Given the description of an element on the screen output the (x, y) to click on. 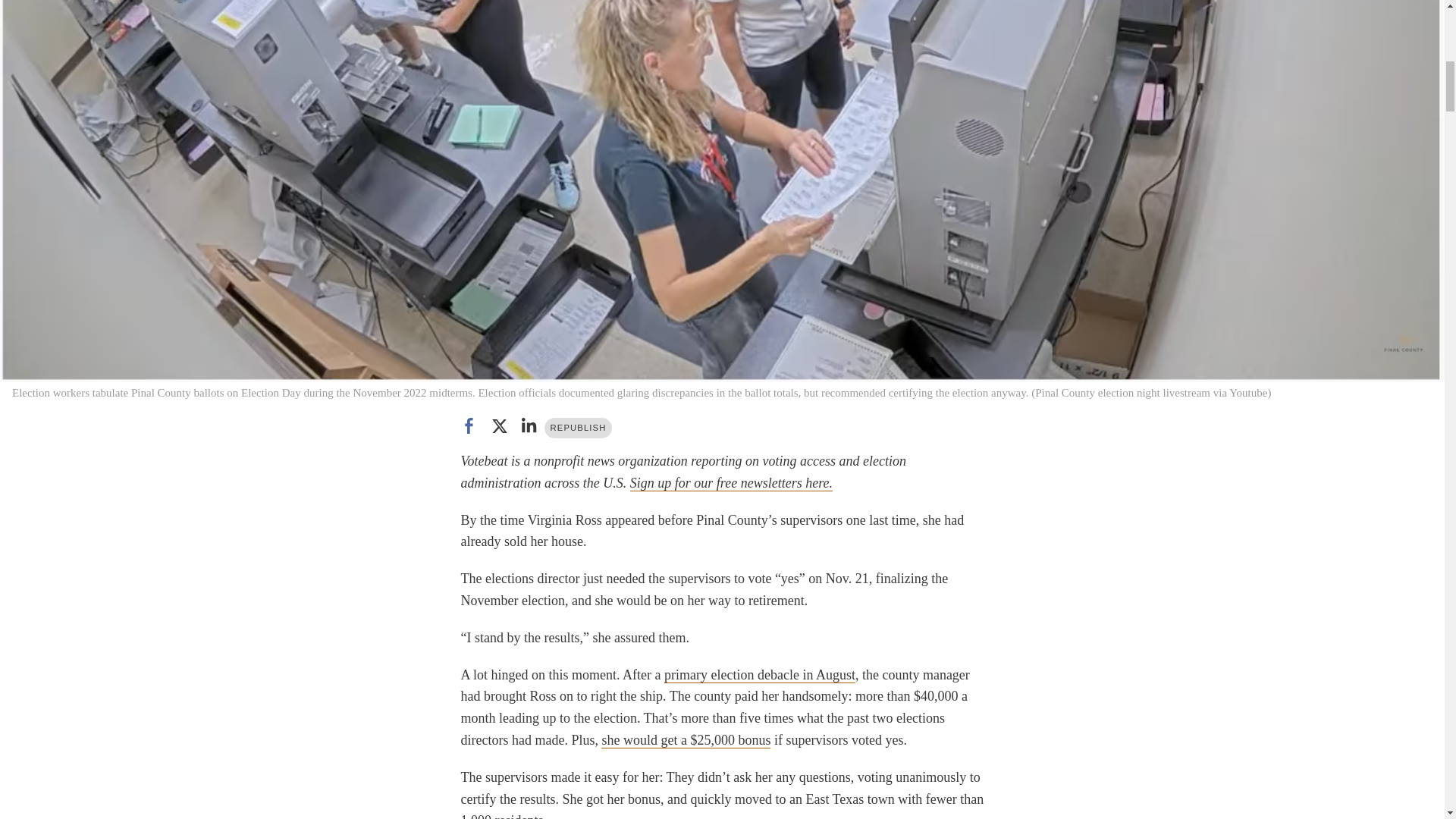
REPUBLISH (578, 427)
Sign up for our free newsletters here. (731, 483)
primary election debacle in August (759, 675)
